Given the description of an element on the screen output the (x, y) to click on. 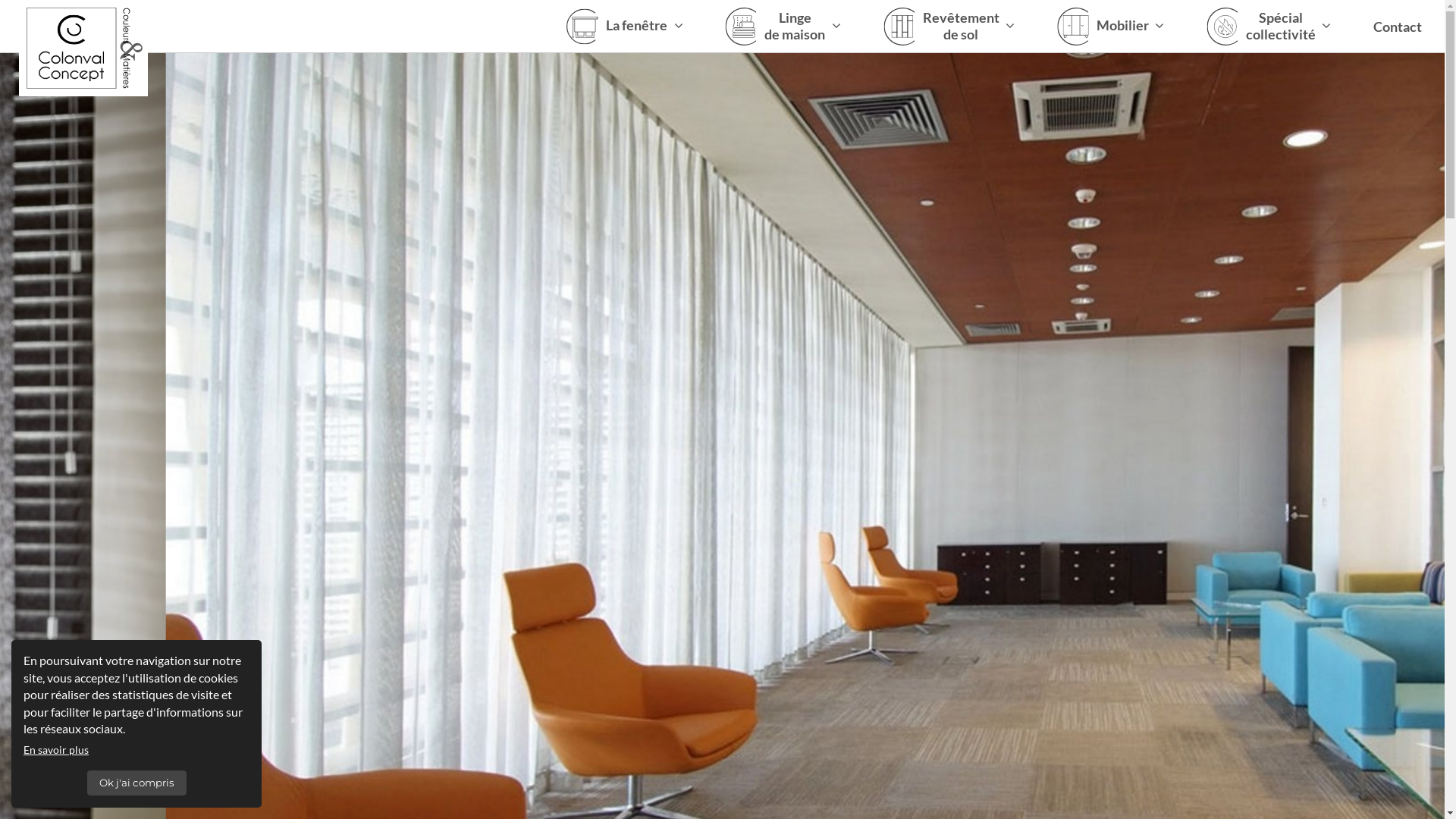
Linge
de maison Element type: text (784, 26)
Contact Element type: text (1397, 26)
En savoir plus Element type: text (55, 749)
Ok j'ai compris Element type: text (135, 782)
Mobilier Element type: text (1112, 26)
